Given the description of an element on the screen output the (x, y) to click on. 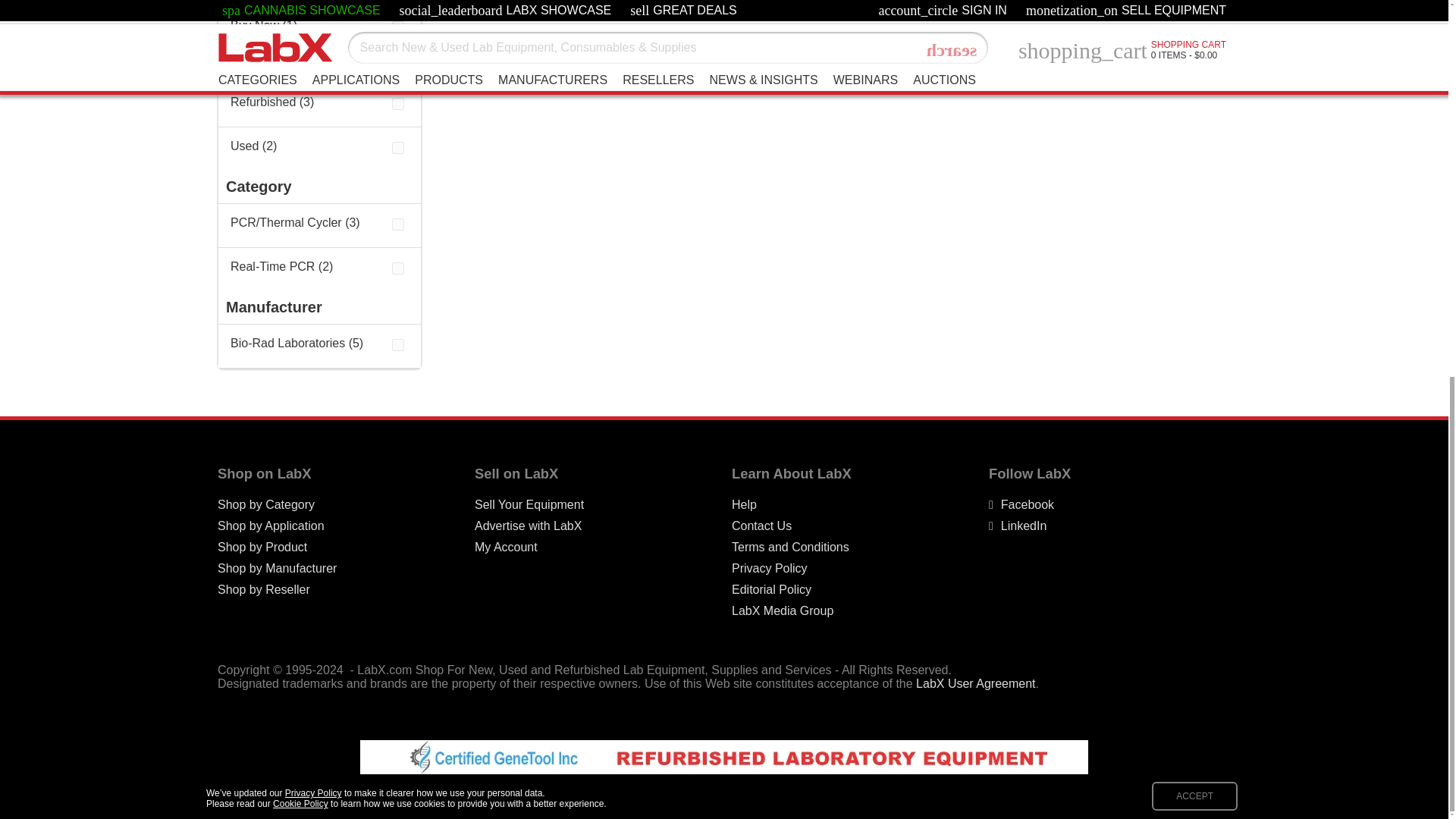
Shop by Reseller (263, 590)
Sell Your Equipment (528, 504)
1 (397, 27)
Shop by Application (270, 526)
My Account (505, 547)
Shop by Product (261, 547)
Advertise with LabX (527, 526)
Shop by Category (265, 504)
Shop by Manufacturer (276, 568)
